Given the description of an element on the screen output the (x, y) to click on. 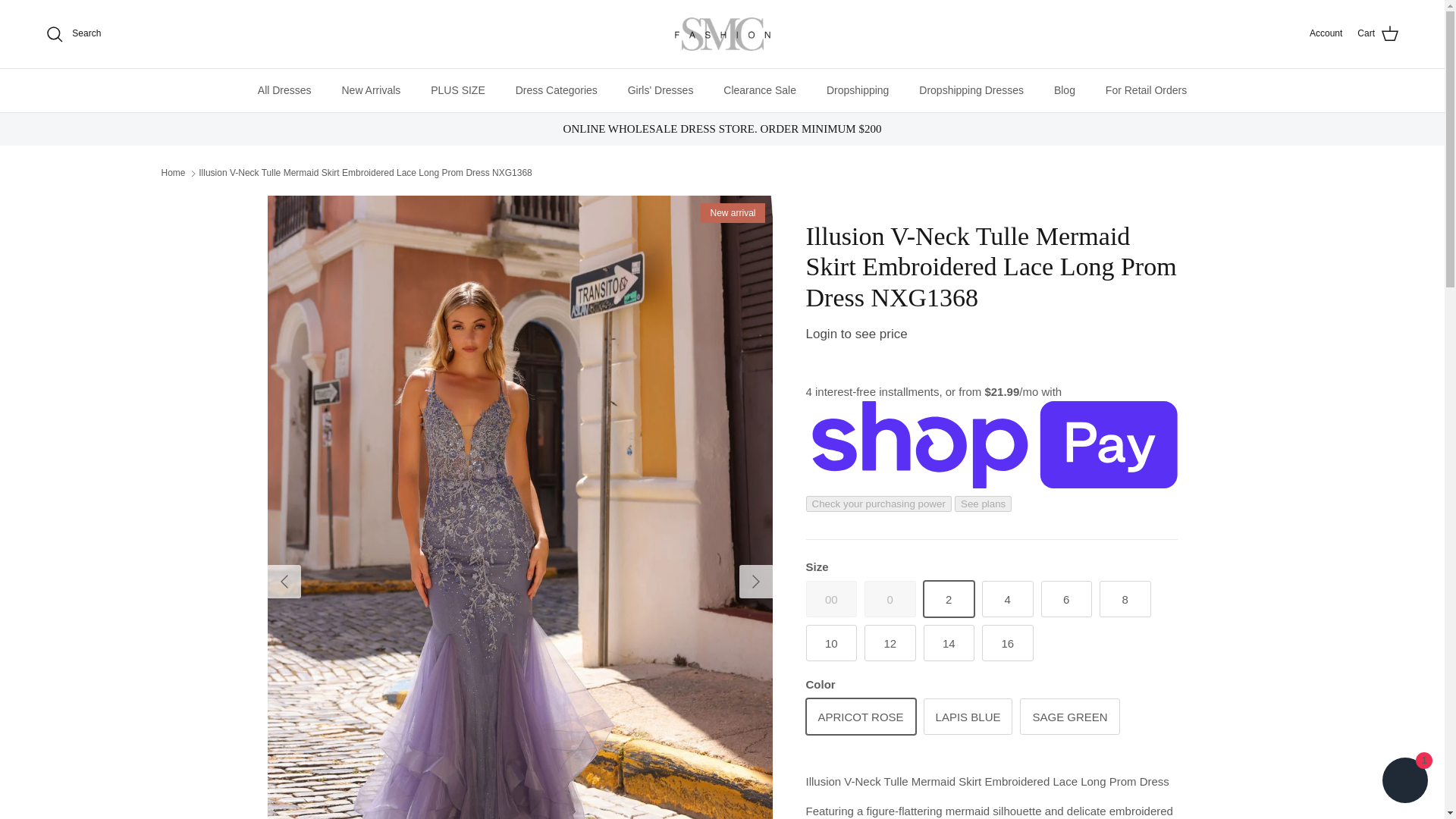
smcfashion.com (721, 34)
Girls' Dresses (660, 89)
Clearance Sale (759, 89)
Shopify online store chat (1404, 781)
Sold out (889, 598)
All Dresses (284, 89)
Dropshipping (857, 89)
Search (72, 34)
Account (1325, 33)
Cart (1377, 34)
Dress Categories (556, 89)
PLUS SIZE (457, 89)
Dropshipping Dresses (970, 89)
Sold out (831, 598)
New Arrivals (370, 89)
